Given the description of an element on the screen output the (x, y) to click on. 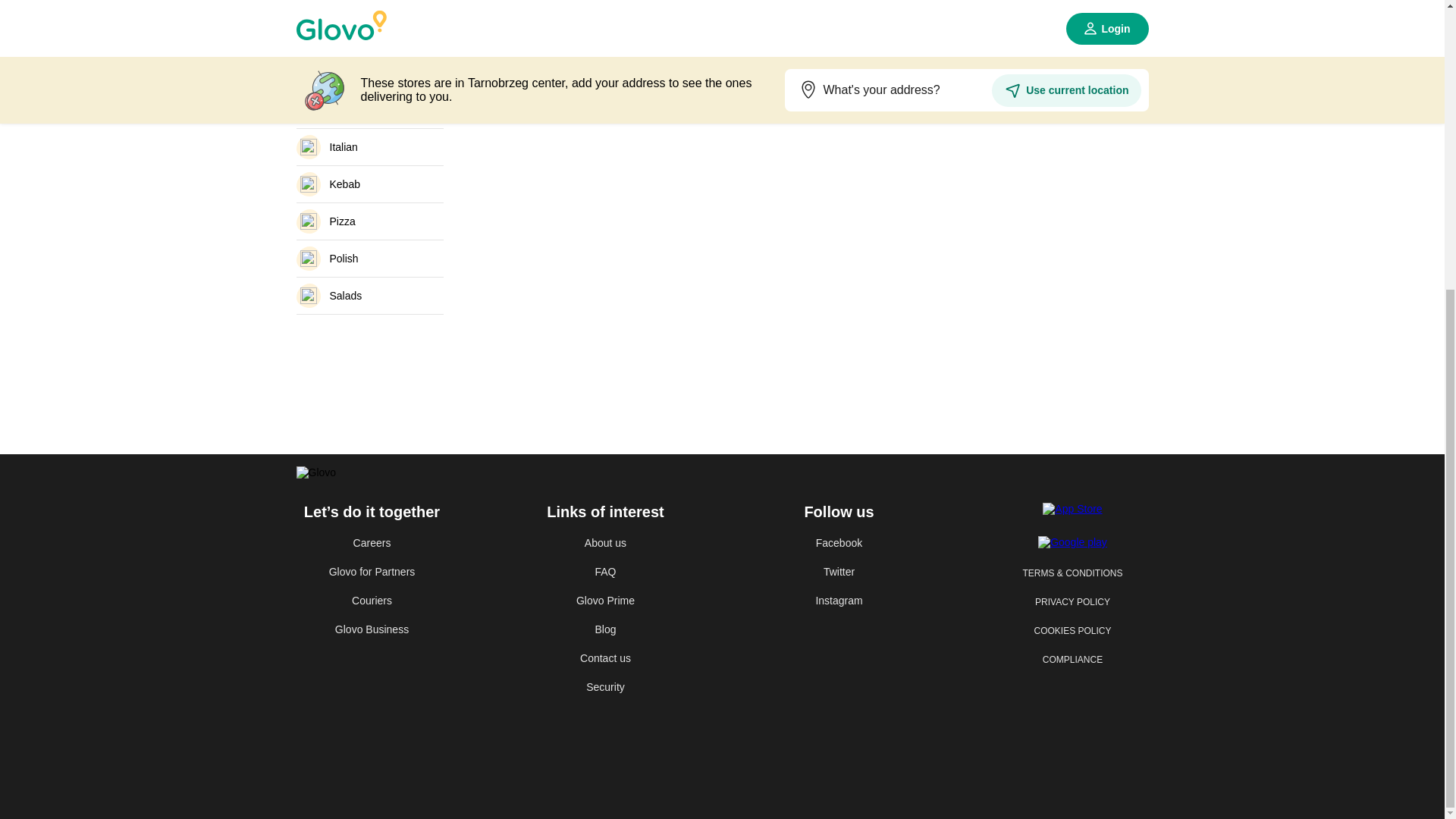
Glovo for Partners (370, 571)
PRIVACY POLICY (1071, 602)
Polish (368, 258)
COOKIES POLICY (1071, 631)
Glovo Prime (605, 600)
European (368, 109)
Italian (368, 146)
Careers (370, 542)
COMPLIANCE (1071, 659)
Pizza (368, 221)
Kebab (368, 183)
Glovo Business (370, 629)
Couriers (370, 600)
FAQ (605, 571)
Drinks (368, 72)
